Given the description of an element on the screen output the (x, y) to click on. 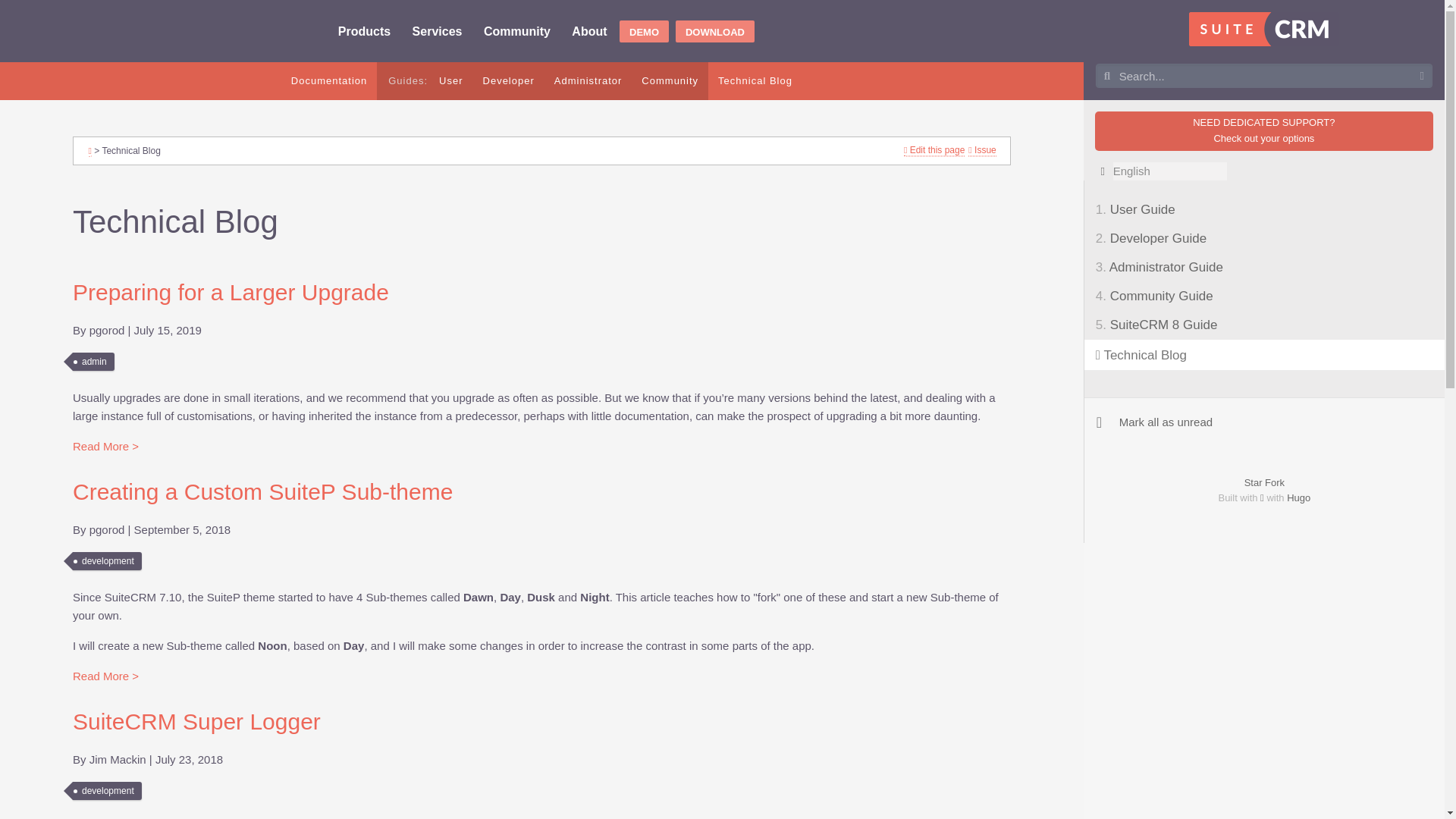
Services (437, 31)
DEMO (644, 31)
Developer (508, 81)
Community (516, 31)
Documentation (329, 81)
DOWNLOAD (714, 31)
Administrator Guide (587, 81)
Products (363, 31)
Technical Blog (754, 81)
Community (669, 81)
Technical Blog (754, 81)
Developer Guide (508, 81)
Administrator (587, 81)
User (450, 81)
Documentation (329, 81)
